Given the description of an element on the screen output the (x, y) to click on. 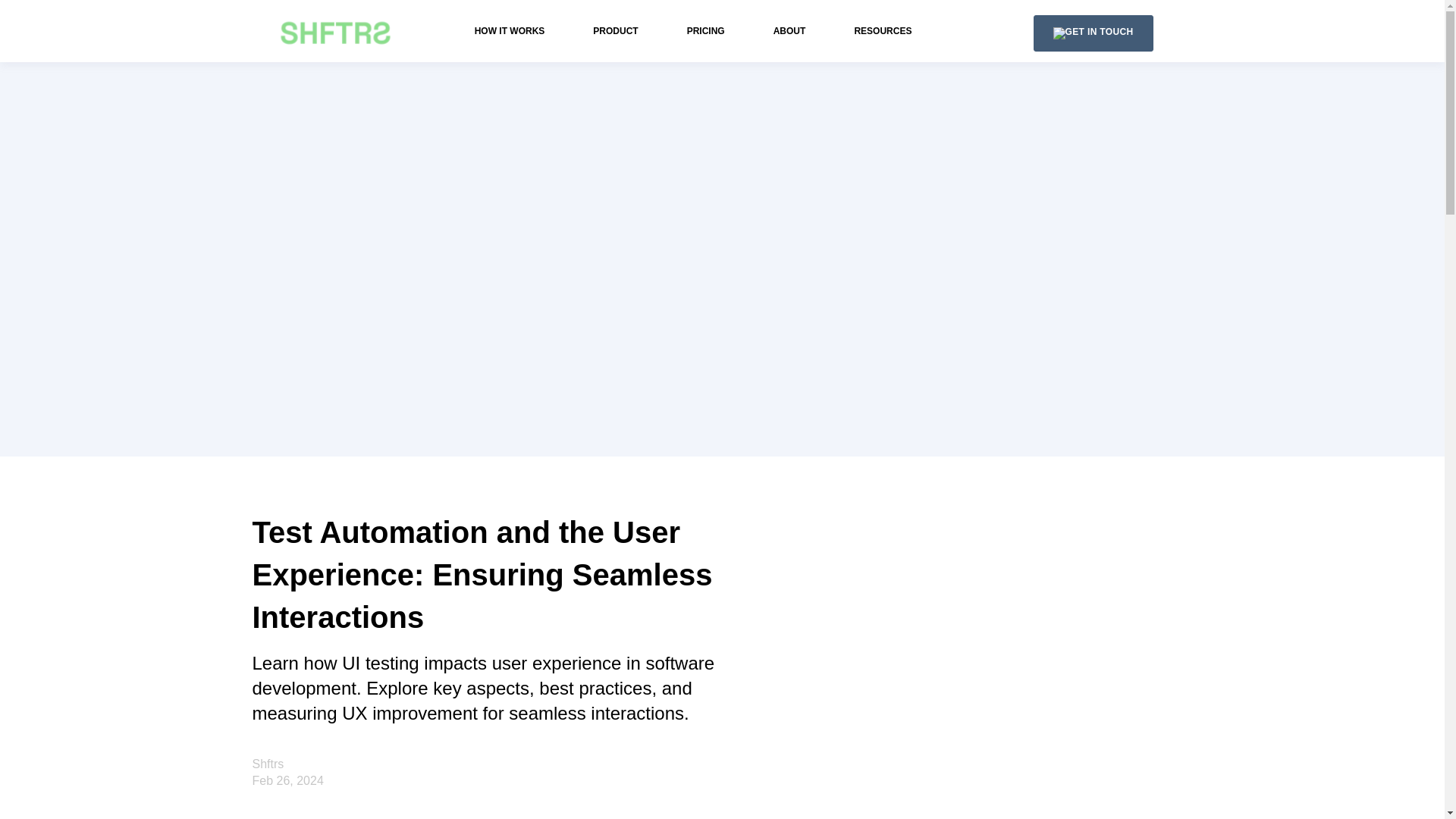
RESOURCES (882, 30)
PRODUCT (614, 30)
Shftrs (267, 763)
HOW IT WORKS (509, 30)
ABOUT (789, 30)
PRICING (706, 30)
